Given the description of an element on the screen output the (x, y) to click on. 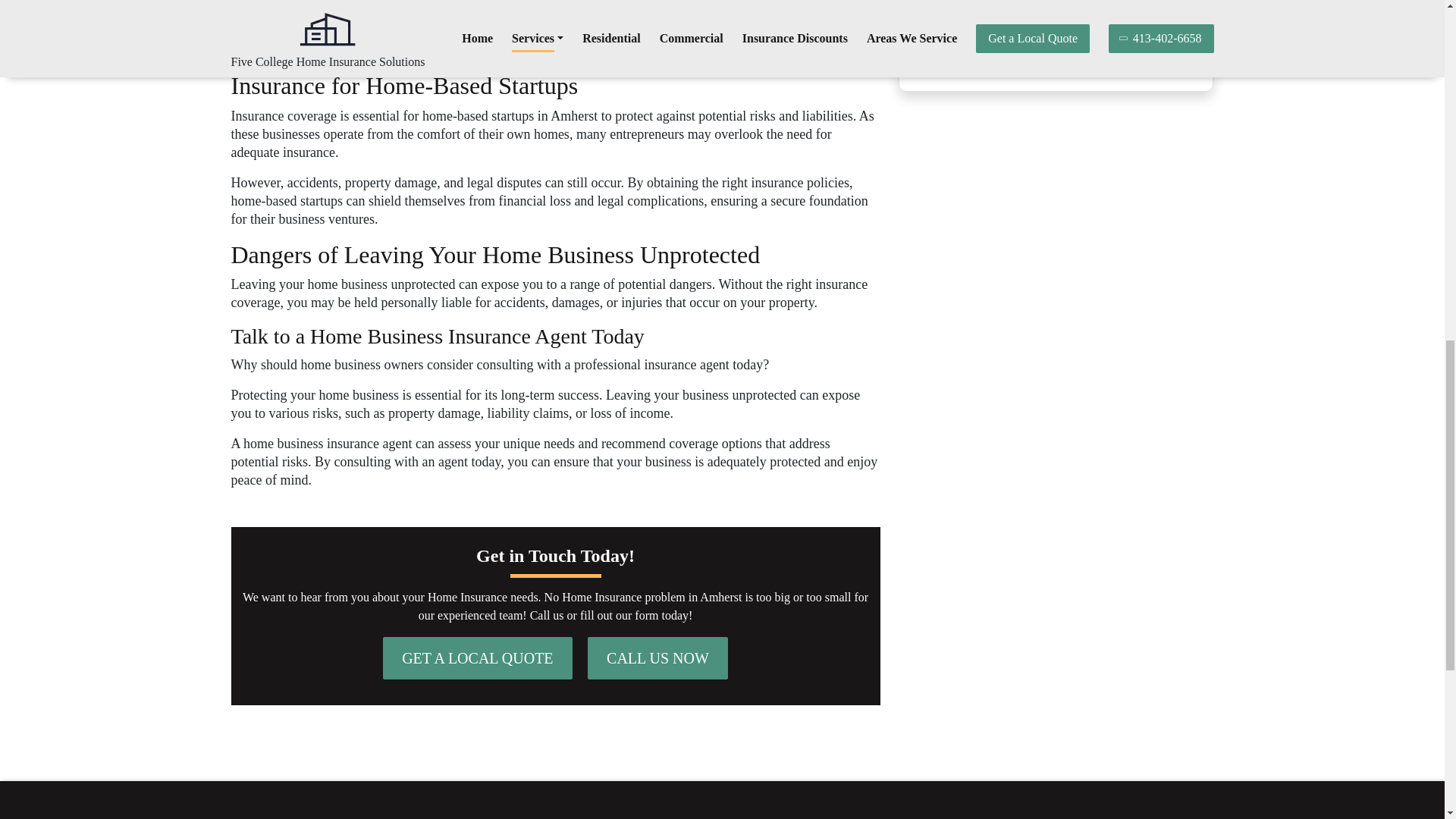
GET A LOCAL QUOTE (477, 658)
CALL US NOW (658, 658)
